Given the description of an element on the screen output the (x, y) to click on. 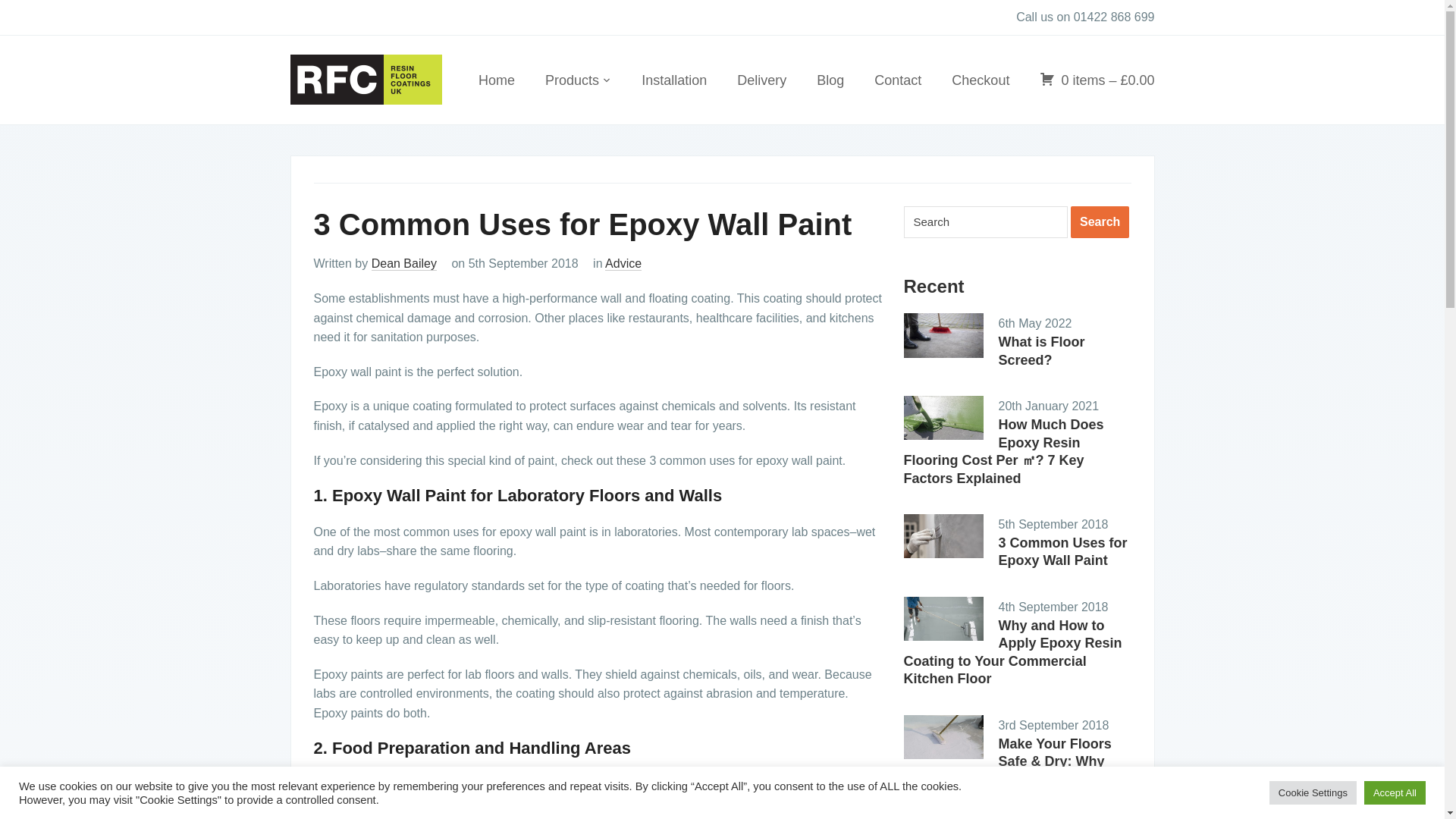
Home (497, 82)
Search (985, 222)
Contact (898, 82)
Search (1099, 222)
Advice (623, 264)
Blog (830, 82)
View your shopping cart (1096, 82)
Delivery (761, 82)
Products (577, 82)
Dean Bailey (403, 264)
